Given the description of an element on the screen output the (x, y) to click on. 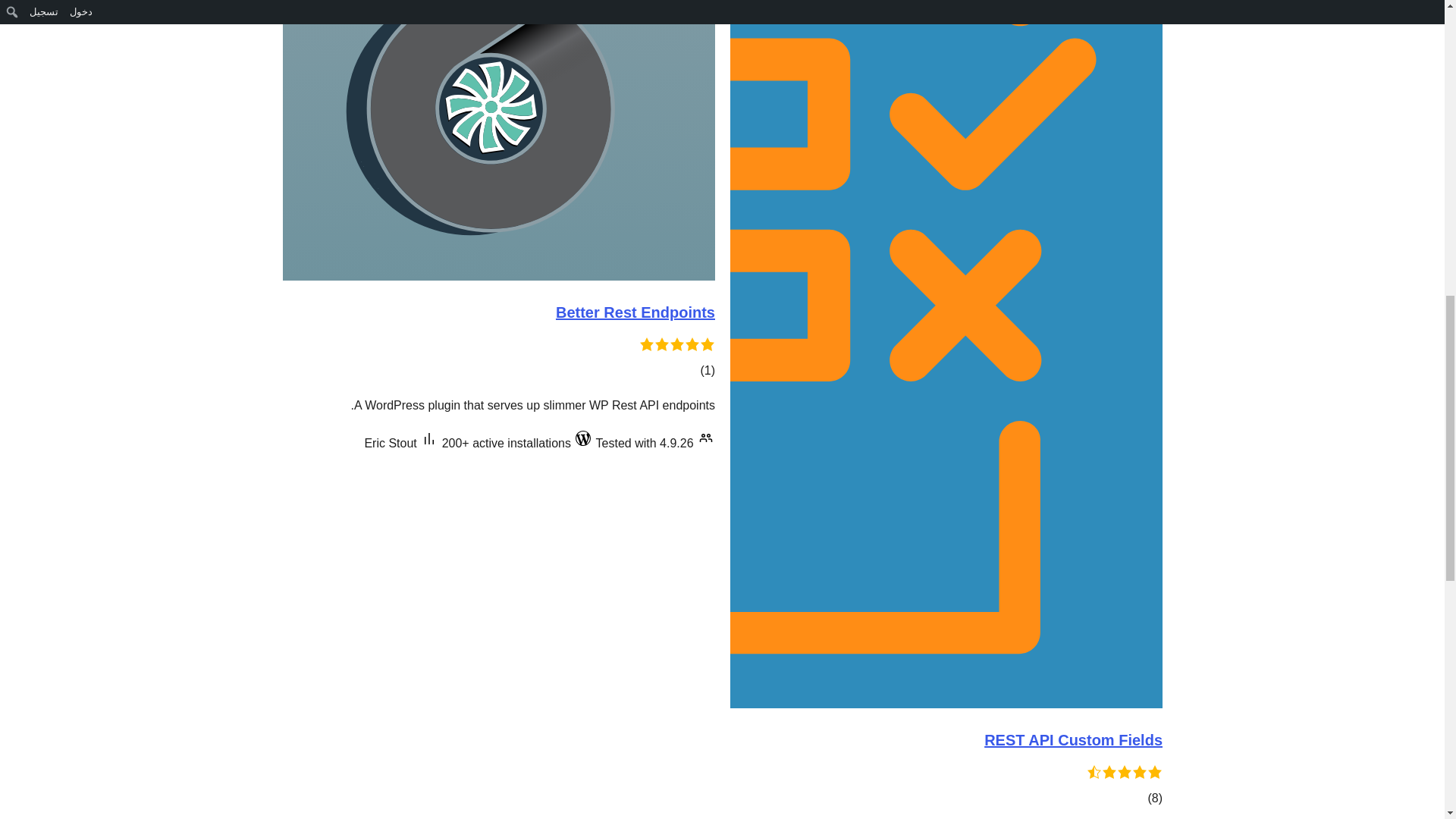
REST API Custom Fields (1072, 740)
Better Rest Endpoints (634, 312)
